Given the description of an element on the screen output the (x, y) to click on. 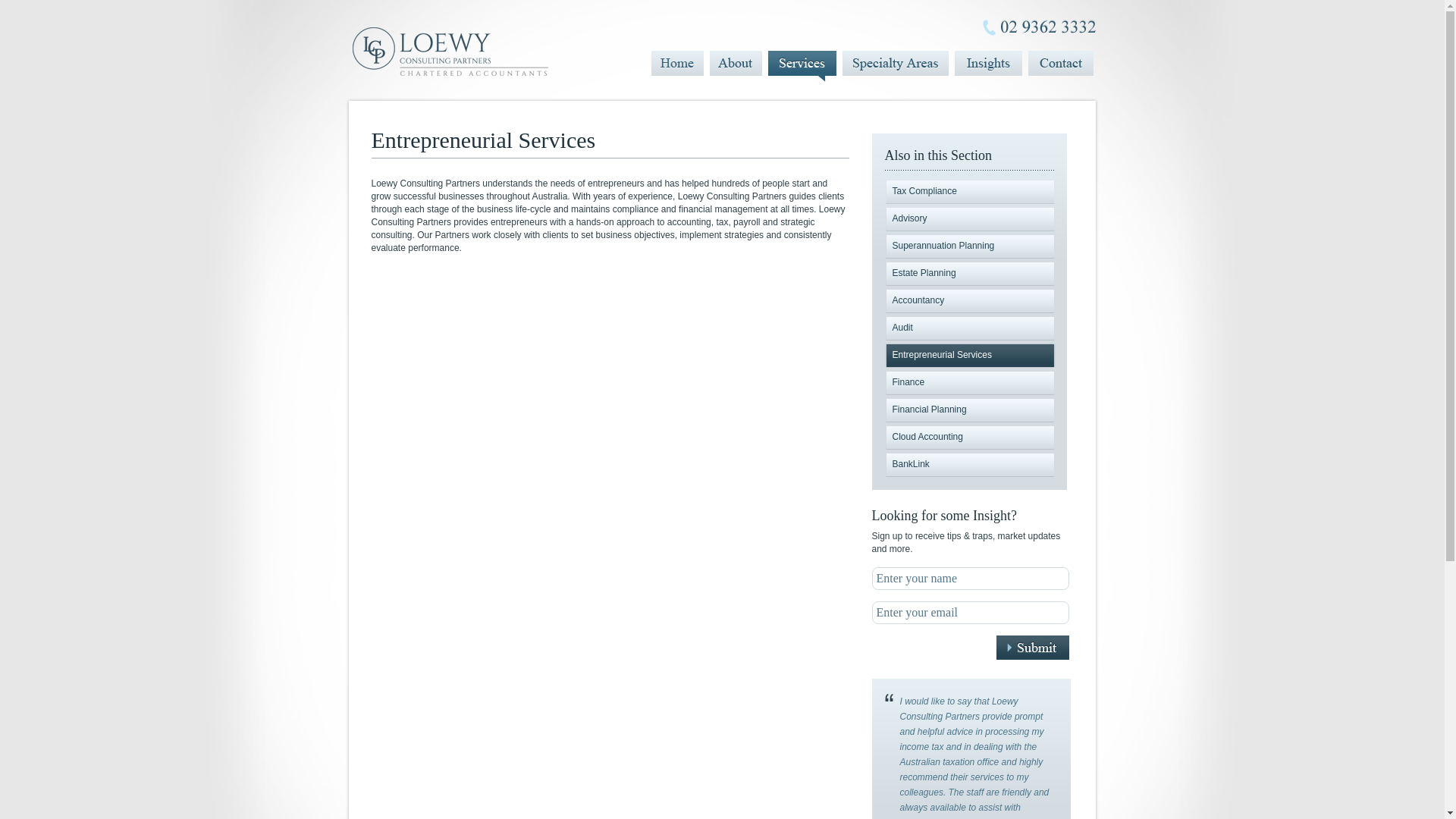
Finance Element type: text (969, 382)
index.html Element type: text (801, 65)
Enter your name Element type: text (970, 578)
Accountancy Element type: text (969, 300)
BankLink Element type: text (969, 464)
Superannuation Planning Element type: text (969, 246)
index.html Element type: text (894, 65)
Financial Planning Element type: text (969, 410)
index.html Element type: text (1060, 65)
Audit Element type: text (969, 328)
Cloud Accounting Element type: text (969, 437)
index.cfm Element type: text (676, 65)
Estate Planning Element type: text (969, 273)
Enter your email Element type: text (970, 612)
index.html Element type: text (987, 65)
Tax Compliance Element type: text (969, 191)
index.html Element type: text (735, 65)
Advisory Element type: text (969, 219)
Loewy Consulting Partners Element type: text (461, 51)
